Given the description of an element on the screen output the (x, y) to click on. 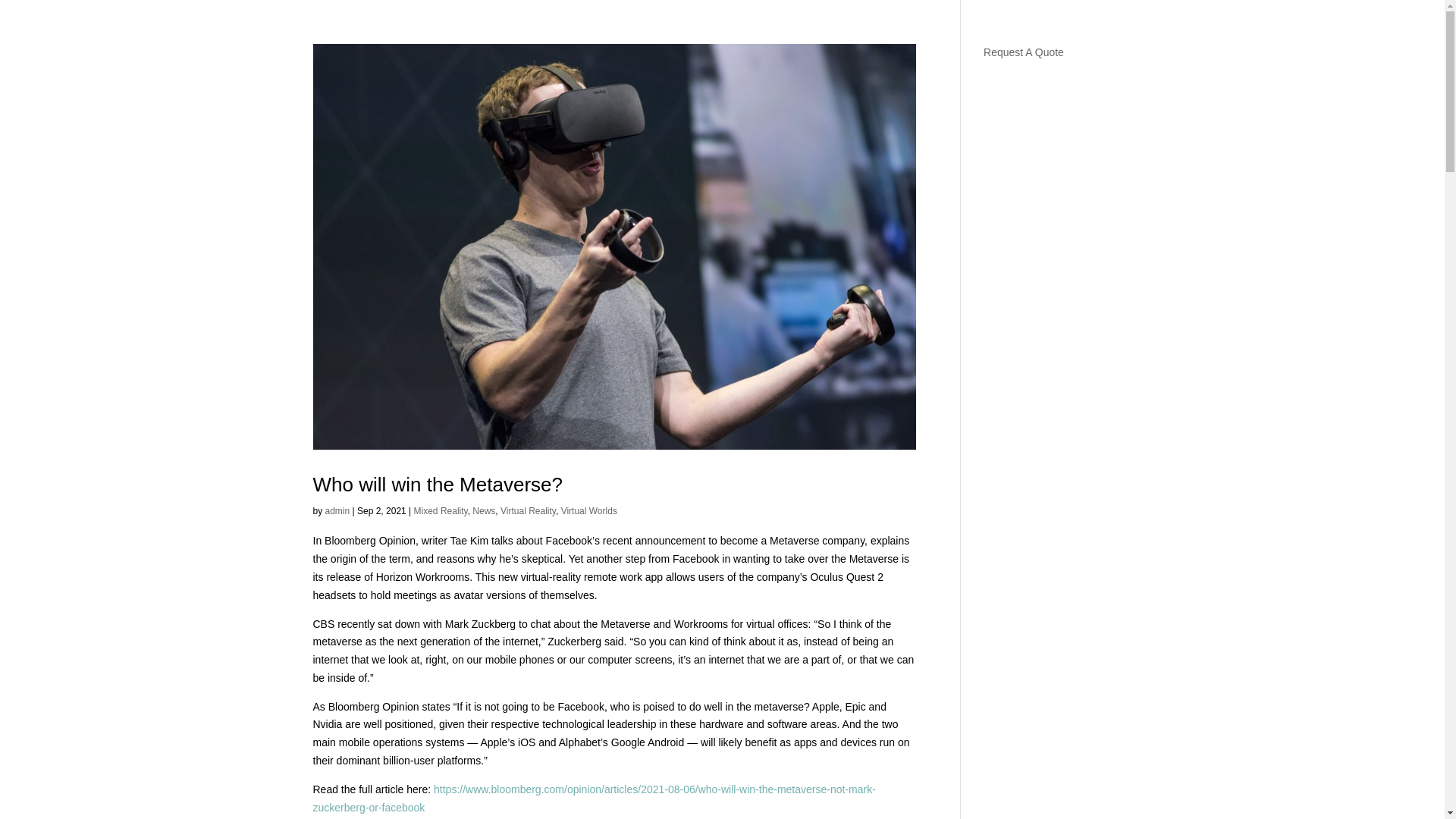
Virtual Worlds (588, 511)
News (483, 511)
Posts by admin (337, 511)
Who will win the Metaverse? (437, 484)
Request A Quote (1024, 51)
admin (337, 511)
Virtual Reality (528, 511)
Mixed Reality (440, 511)
